Given the description of an element on the screen output the (x, y) to click on. 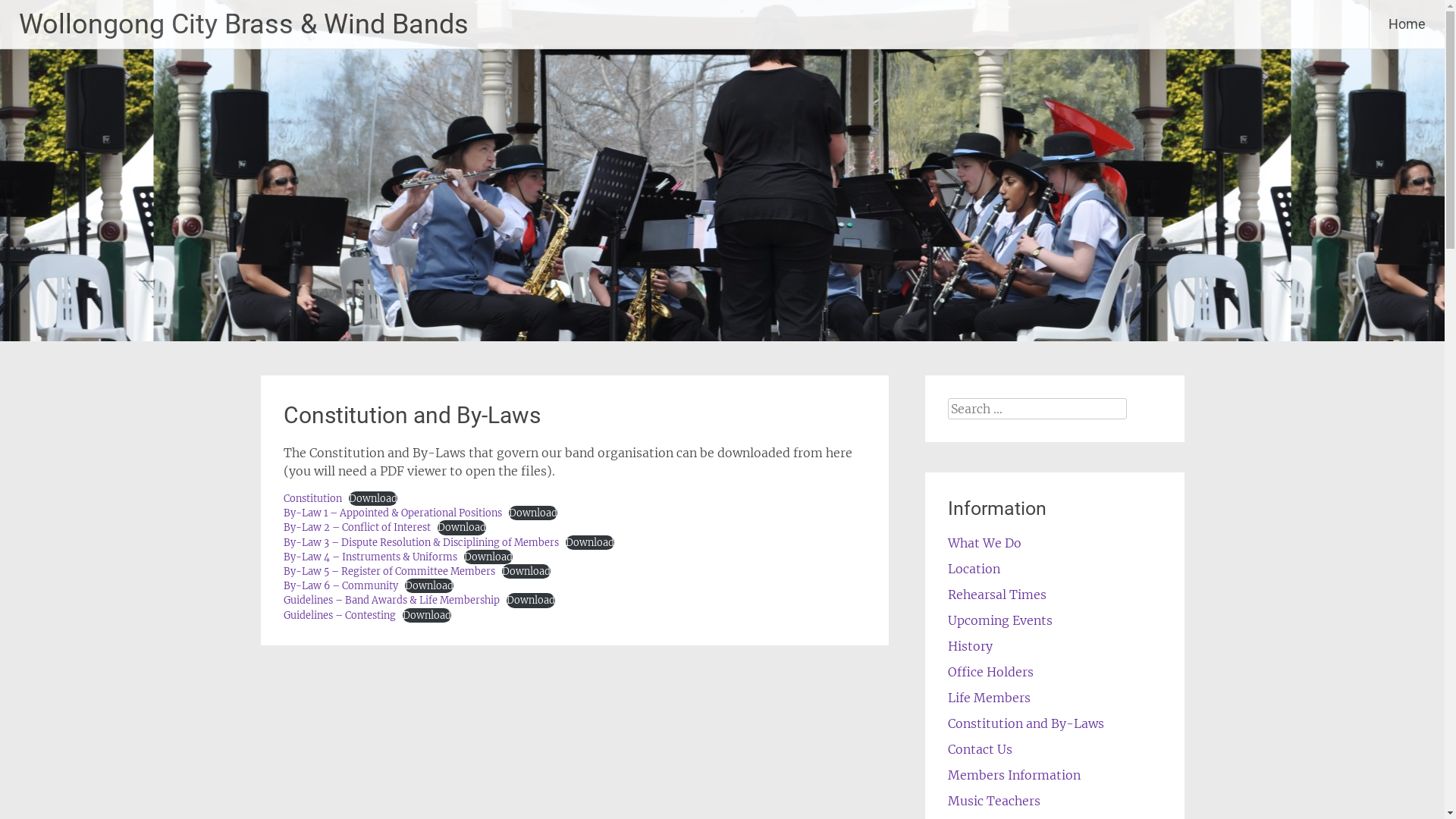
Rehearsal Times Element type: text (996, 594)
Download Element type: text (532, 512)
Contact Us Element type: text (979, 748)
Home Element type: text (1406, 24)
Search Element type: text (29, 12)
Life Members Element type: text (988, 697)
Members Information Element type: text (1013, 774)
Download Element type: text (428, 585)
Location Element type: text (973, 568)
Download Element type: text (461, 527)
Constitution and By-Laws Element type: text (1025, 723)
Office Holders Element type: text (990, 671)
History Element type: text (969, 645)
Download Element type: text (372, 498)
Download Element type: text (488, 556)
What We Do Element type: text (984, 542)
Upcoming Events Element type: text (999, 619)
Download Element type: text (530, 600)
Constitution Element type: text (312, 498)
Download Element type: text (526, 571)
Wollongong City Brass & Wind Bands Element type: text (243, 24)
Download Element type: text (426, 615)
Music Teachers Element type: text (993, 800)
Download Element type: text (589, 542)
